Given the description of an element on the screen output the (x, y) to click on. 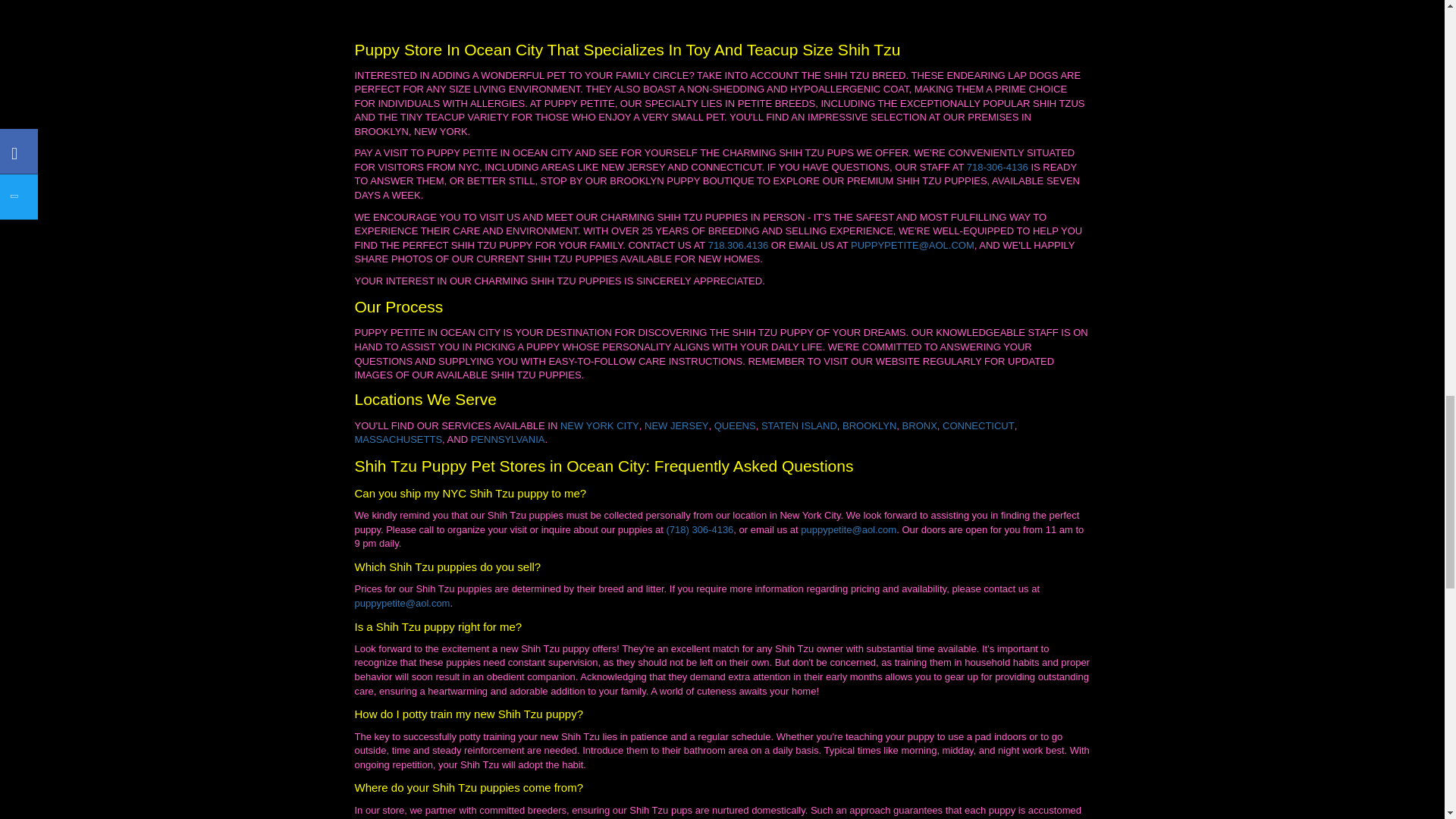
718.306.4136 (737, 246)
718-306-4136 (996, 167)
